Given the description of an element on the screen output the (x, y) to click on. 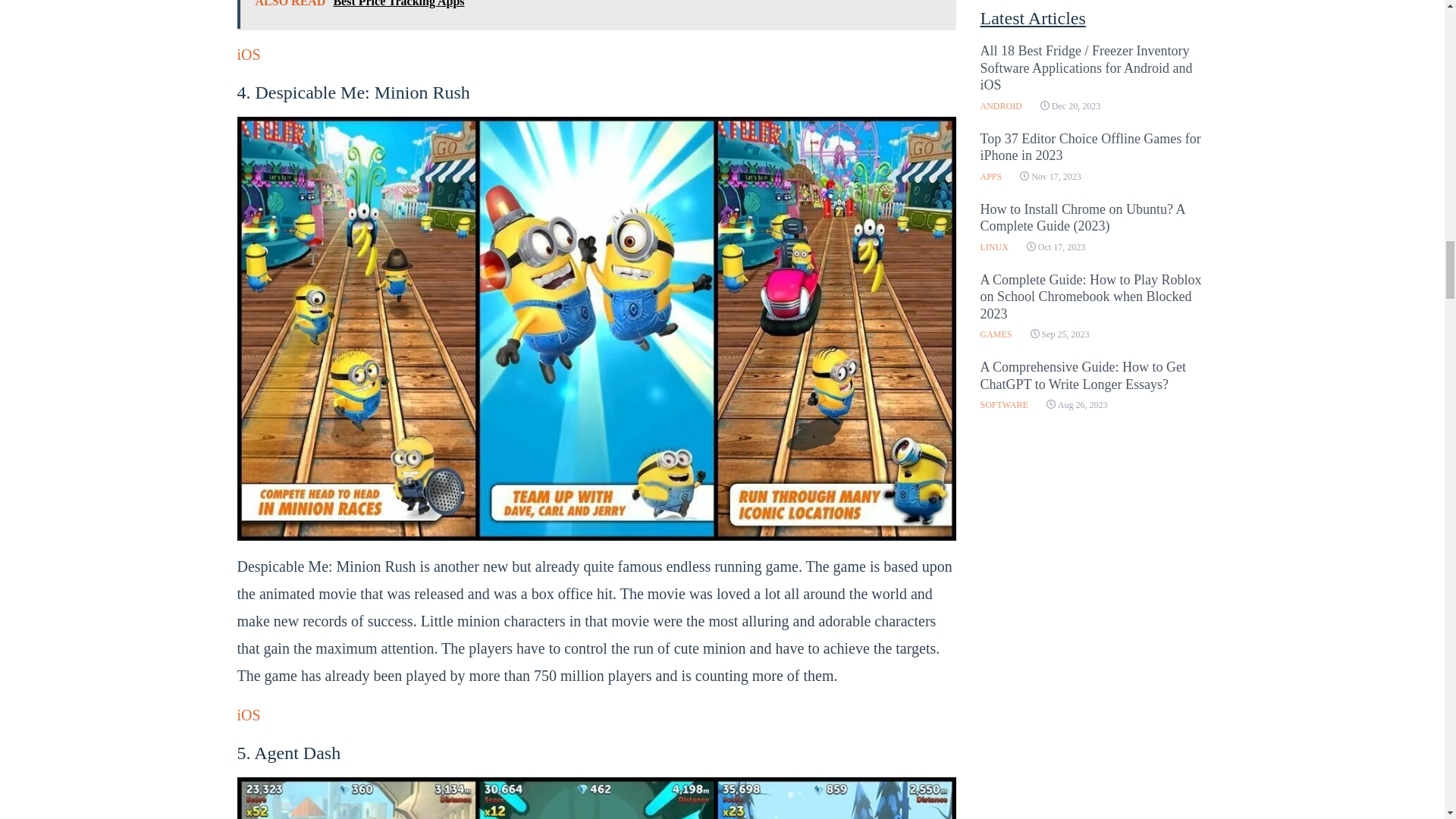
iOS (247, 714)
ALSO READ  Best Price Tracking Apps (595, 14)
iOS (247, 54)
